Given the description of an element on the screen output the (x, y) to click on. 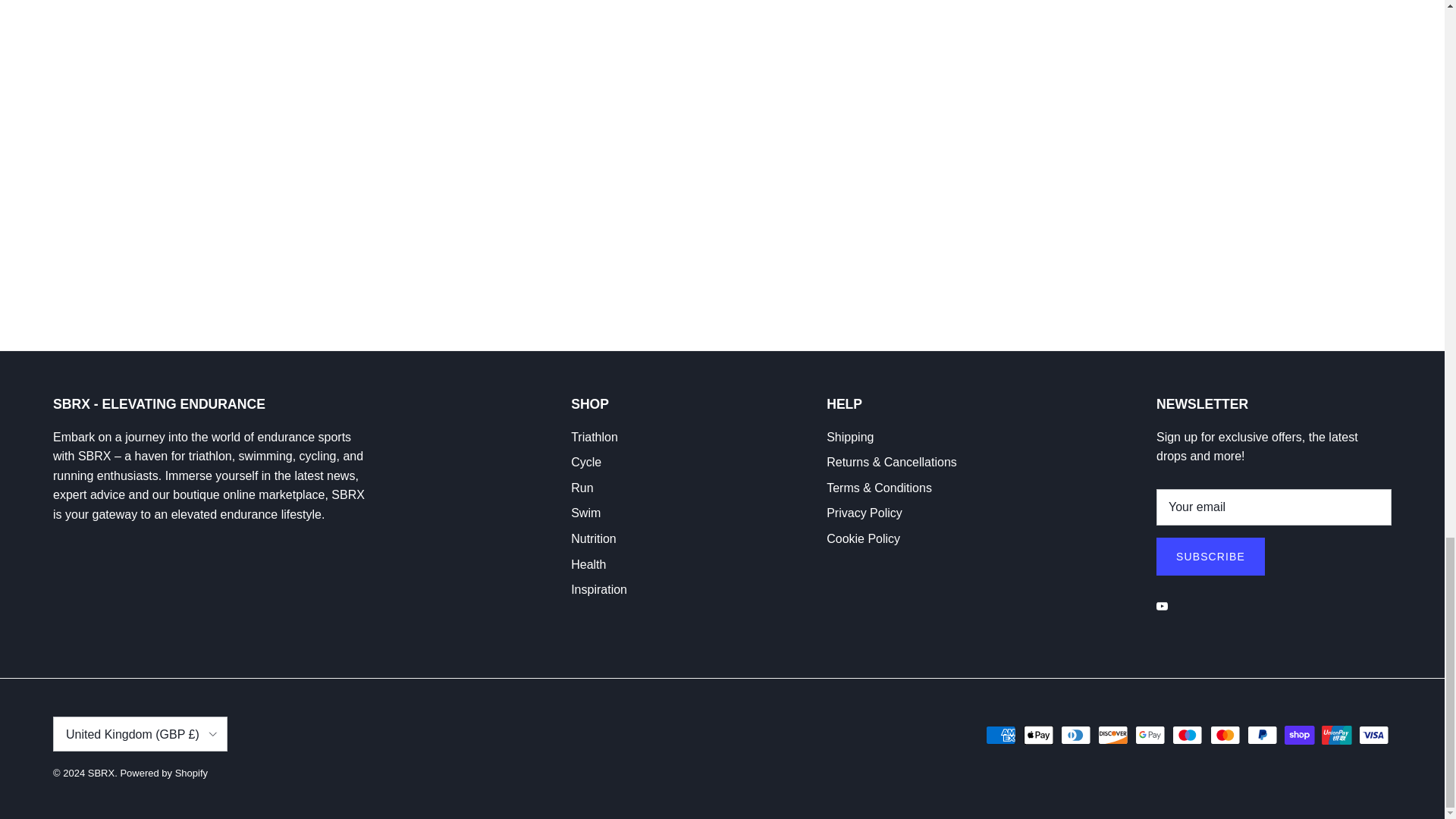
Maestro (1187, 734)
American Express (1000, 734)
SBRX on YouTube (1161, 605)
Google Pay (1149, 734)
Discover (1112, 734)
Apple Pay (1038, 734)
Diners Club (1075, 734)
